Given the description of an element on the screen output the (x, y) to click on. 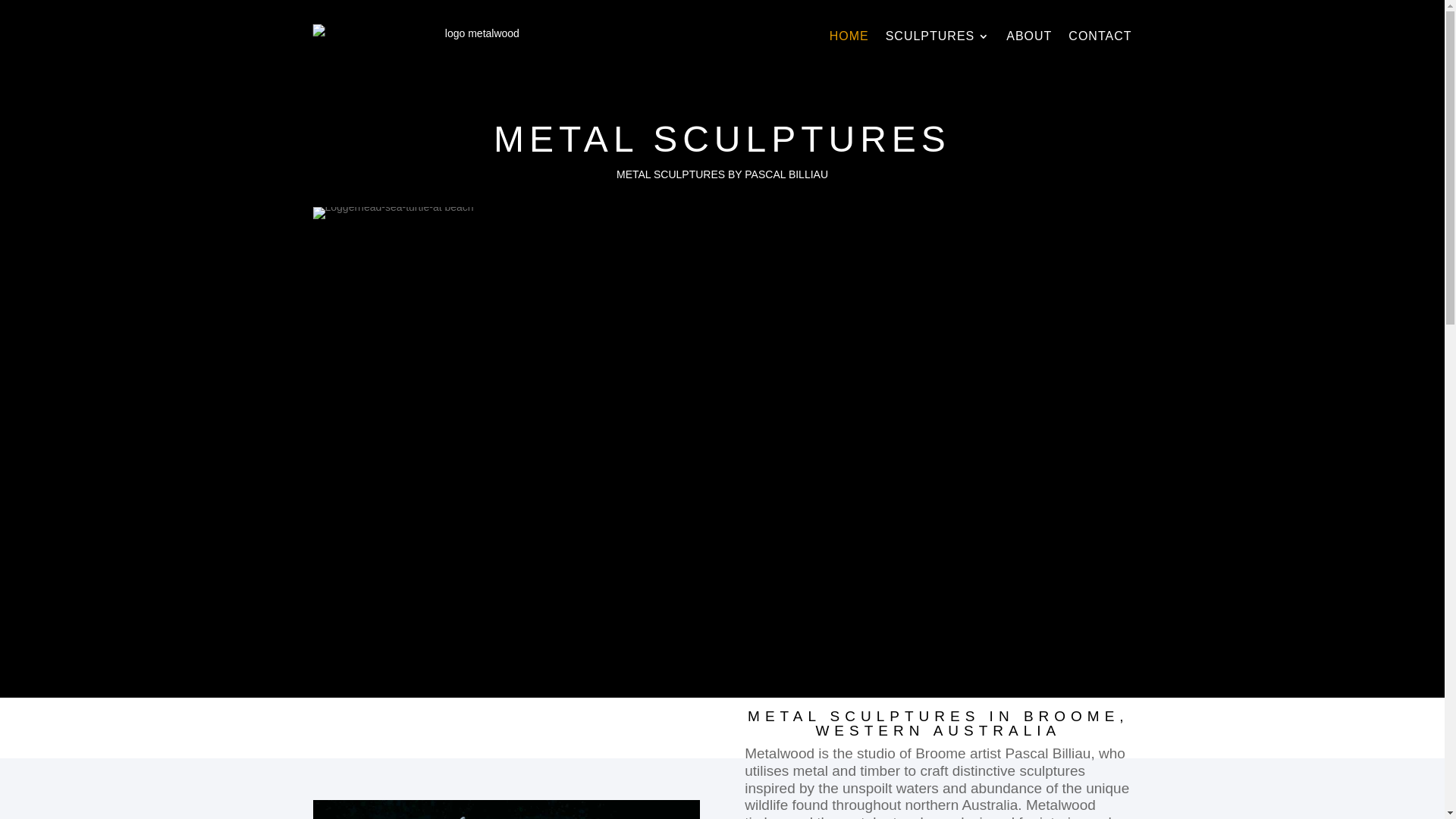
CONTACT Element type: text (1099, 36)
Loggerhead-sea-turtle-metal-sculpture Element type: hover (392, 213)
ABOUT Element type: text (1028, 36)
SCULPTURES Element type: text (937, 36)
HOME Element type: text (849, 36)
